Given the description of an element on the screen output the (x, y) to click on. 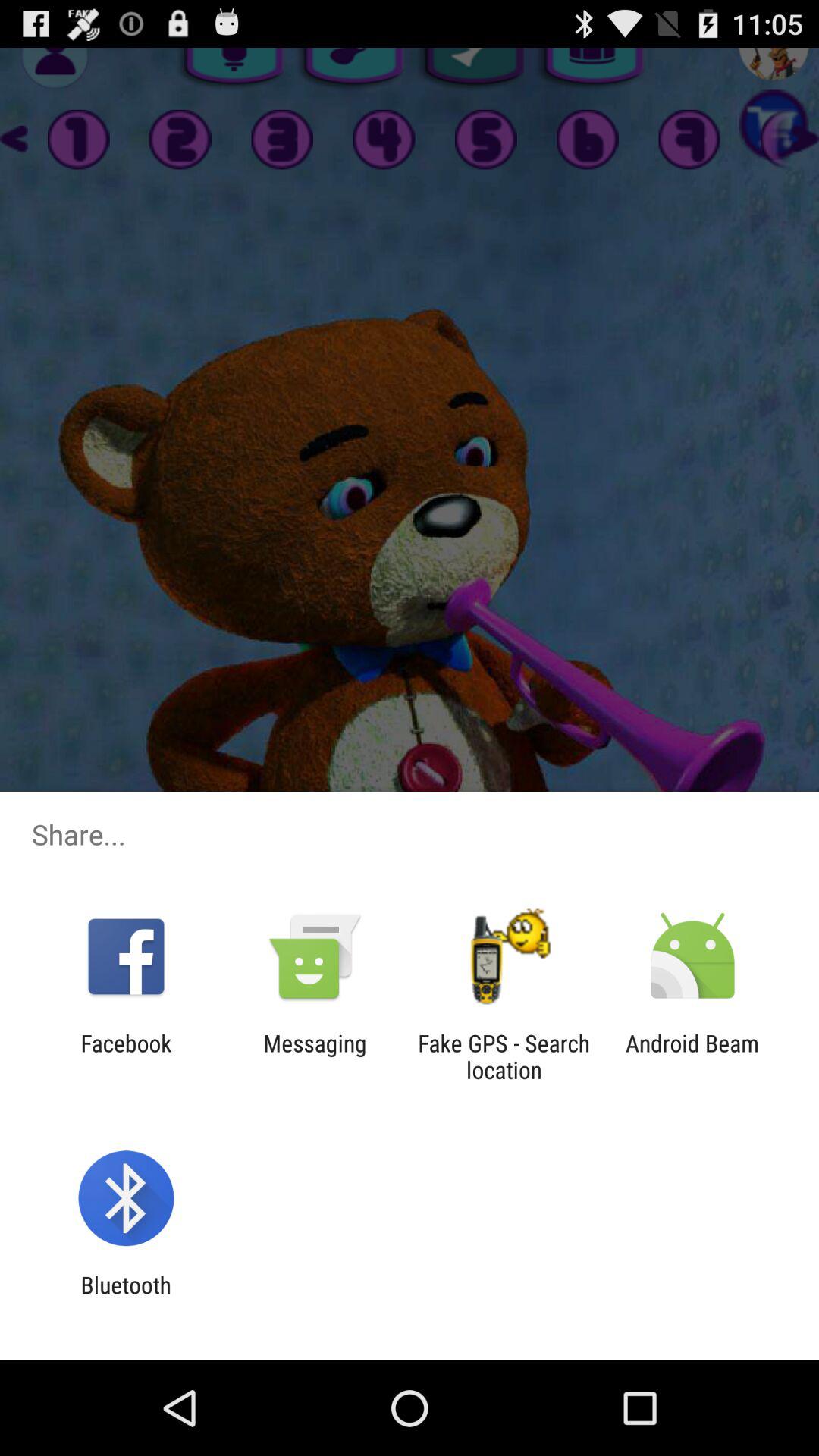
launch the item next to the messaging (125, 1056)
